Given the description of an element on the screen output the (x, y) to click on. 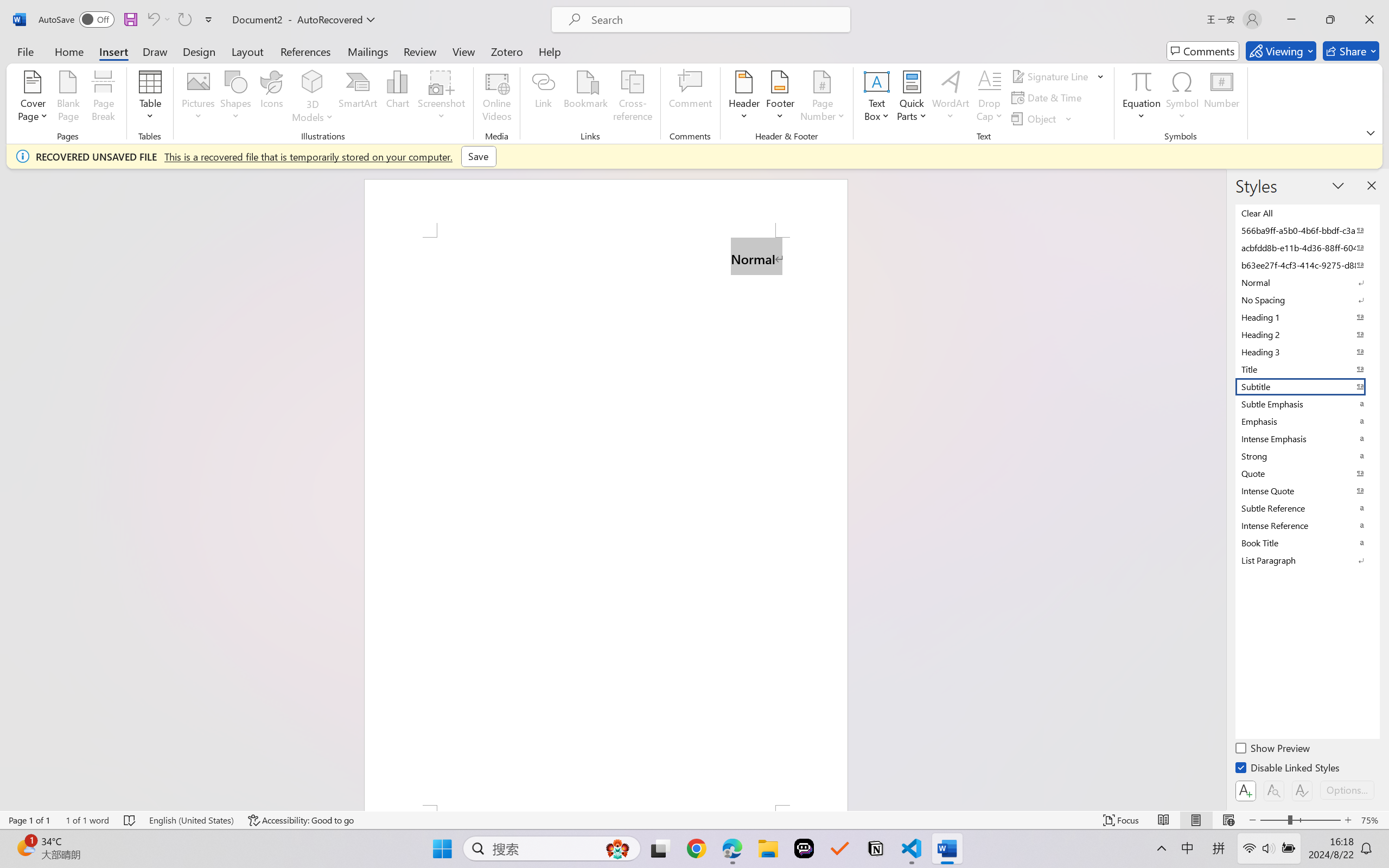
Signature Line (1058, 75)
Normal (1306, 282)
Clear All (1306, 213)
Intense Emphasis (1306, 438)
Can't Undo (158, 19)
Online Videos... (496, 97)
Ribbon Display Options (1370, 132)
Options... (1346, 789)
b63ee27f-4cf3-414c-9275-d88e3f90795e (1306, 265)
Heading 3 (1306, 352)
Screenshot (441, 97)
